Given the description of an element on the screen output the (x, y) to click on. 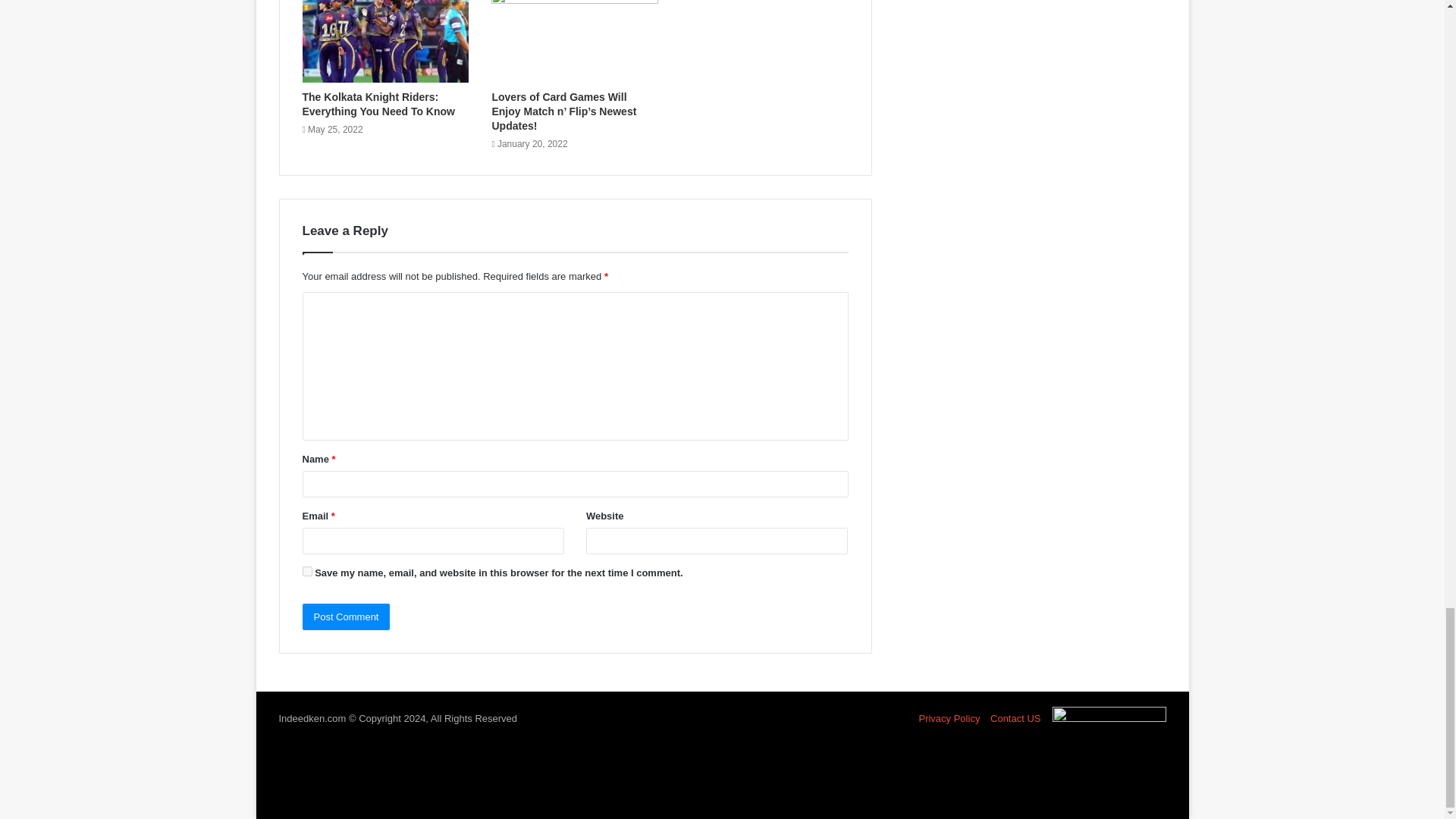
Post Comment (345, 616)
yes (306, 571)
